Given the description of an element on the screen output the (x, y) to click on. 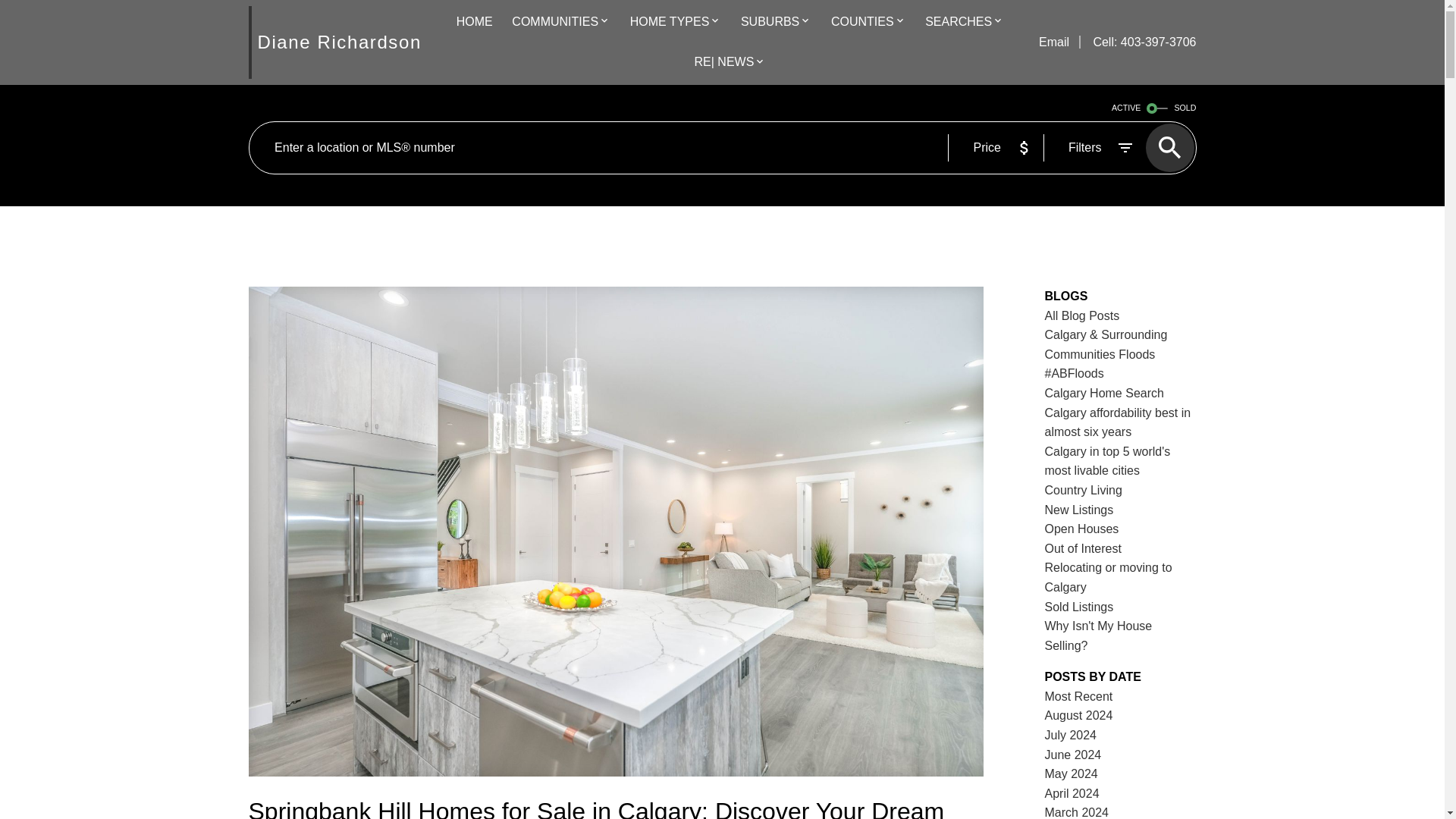
HOME (475, 22)
